Given the description of an element on the screen output the (x, y) to click on. 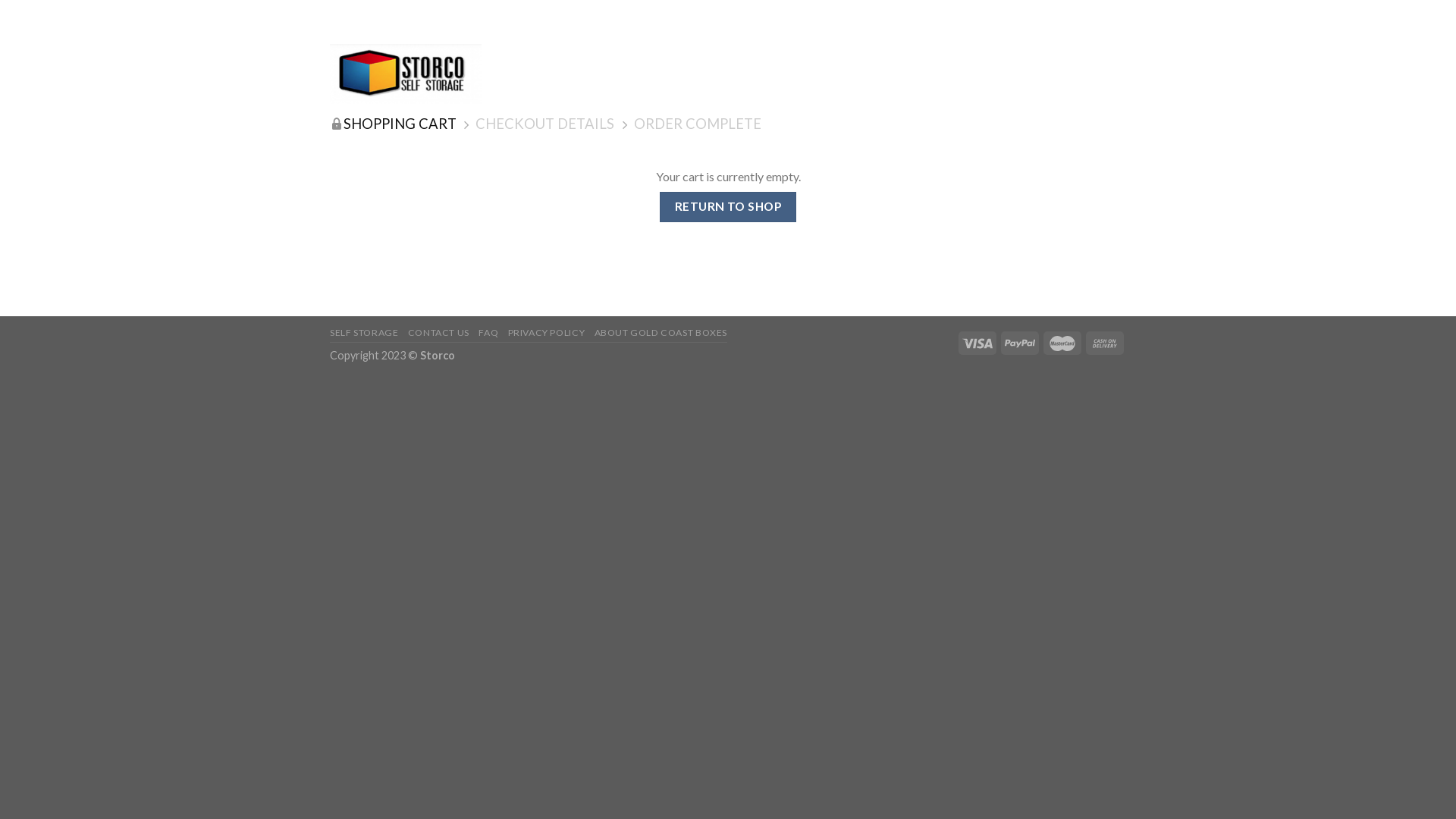
RETURN TO SHOP Element type: text (727, 206)
CHECKOUT DETAILS Element type: text (544, 123)
PRIVACY POLICY Element type: text (546, 332)
SELF STORAGE Element type: text (363, 332)
CONTACT US Element type: text (438, 332)
SHOPPING CART Element type: text (399, 123)
FAQ Element type: text (488, 332)
Gold Coast Boxes - Storco boxing and packaging Element type: hover (405, 73)
ABOUT GOLD COAST BOXES Element type: text (660, 332)
ORDER COMPLETE Element type: text (697, 123)
